Given the description of an element on the screen output the (x, y) to click on. 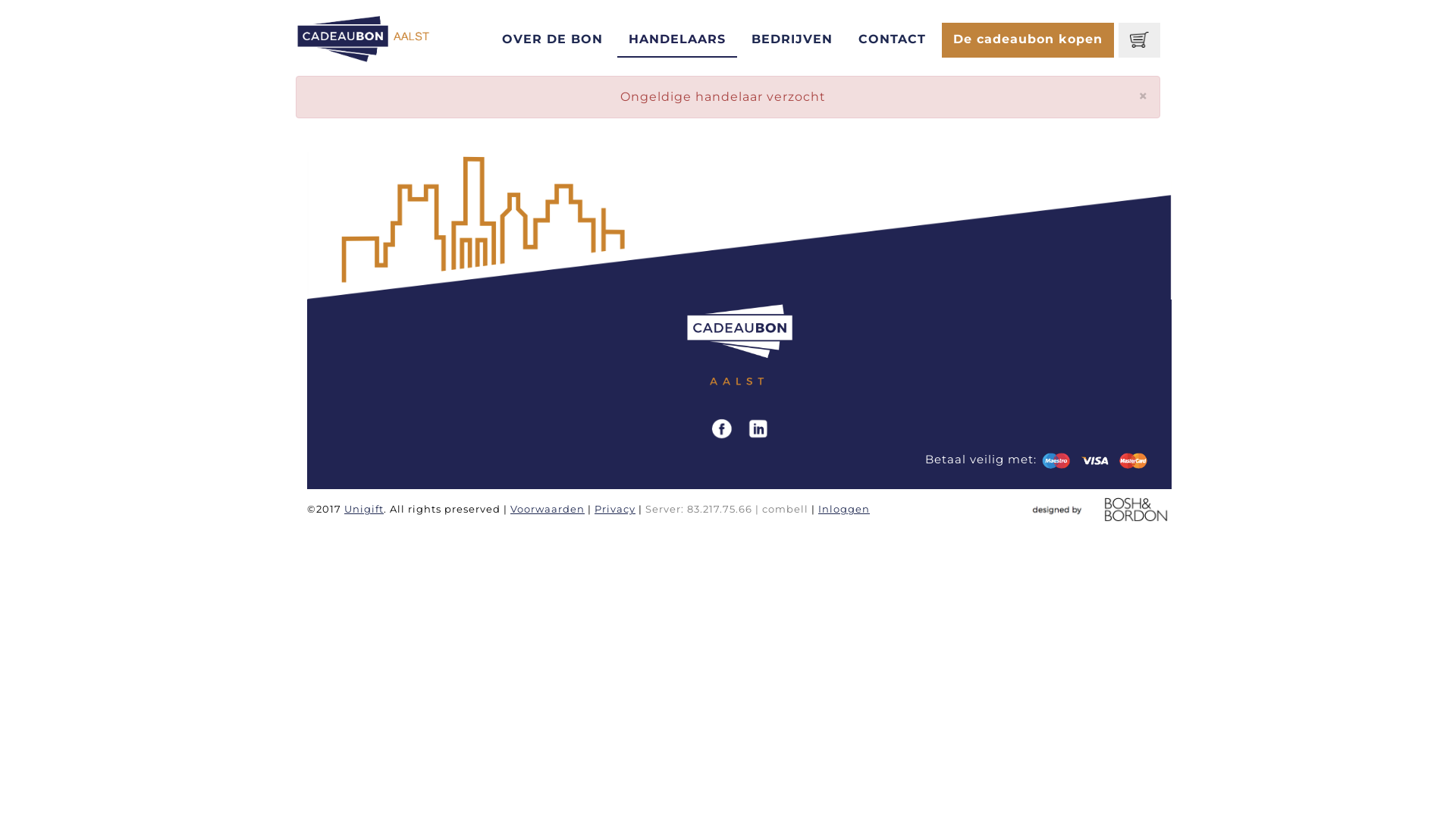
Cadeaubon aalst Element type: hover (373, 37)
HANDELAARS Element type: text (677, 39)
BEDRIJVEN Element type: text (792, 39)
De cadeaubon kopen Element type: text (1027, 39)
OVER DE BON Element type: text (552, 39)
Cadeaubon Aalst op LinkedIn Element type: hover (758, 427)
Privacy Element type: text (614, 508)
Cadeaubon Aalst Facebook Element type: hover (720, 427)
Voorwaarden Element type: text (547, 508)
Unigift Element type: text (363, 508)
Winkelkarretje Element type: hover (1139, 39)
CONTACT Element type: text (892, 39)
Inloggen Element type: text (843, 508)
